Given the description of an element on the screen output the (x, y) to click on. 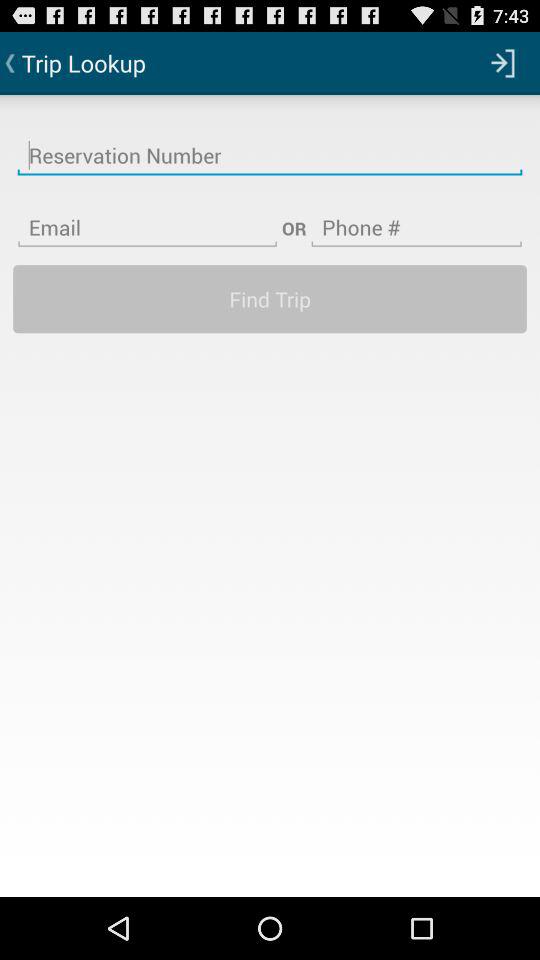
launch the icon above find trip icon (416, 215)
